Given the description of an element on the screen output the (x, y) to click on. 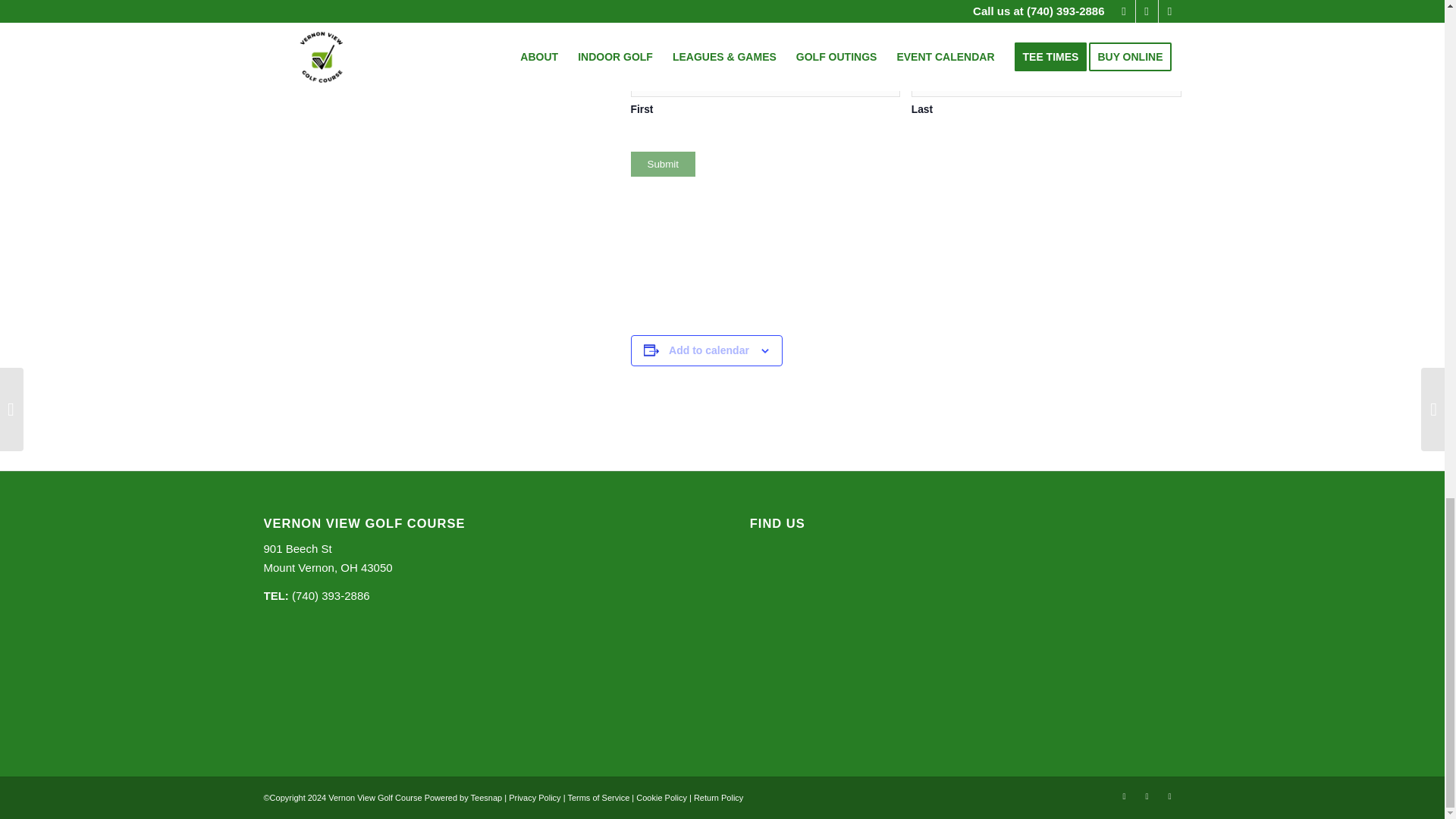
Terms of Service (597, 797)
Return Policy (718, 797)
Submit (662, 163)
Cookie Policy (661, 797)
Add to calendar (328, 558)
Privacy Policy (708, 349)
Submit (534, 797)
